Given the description of an element on the screen output the (x, y) to click on. 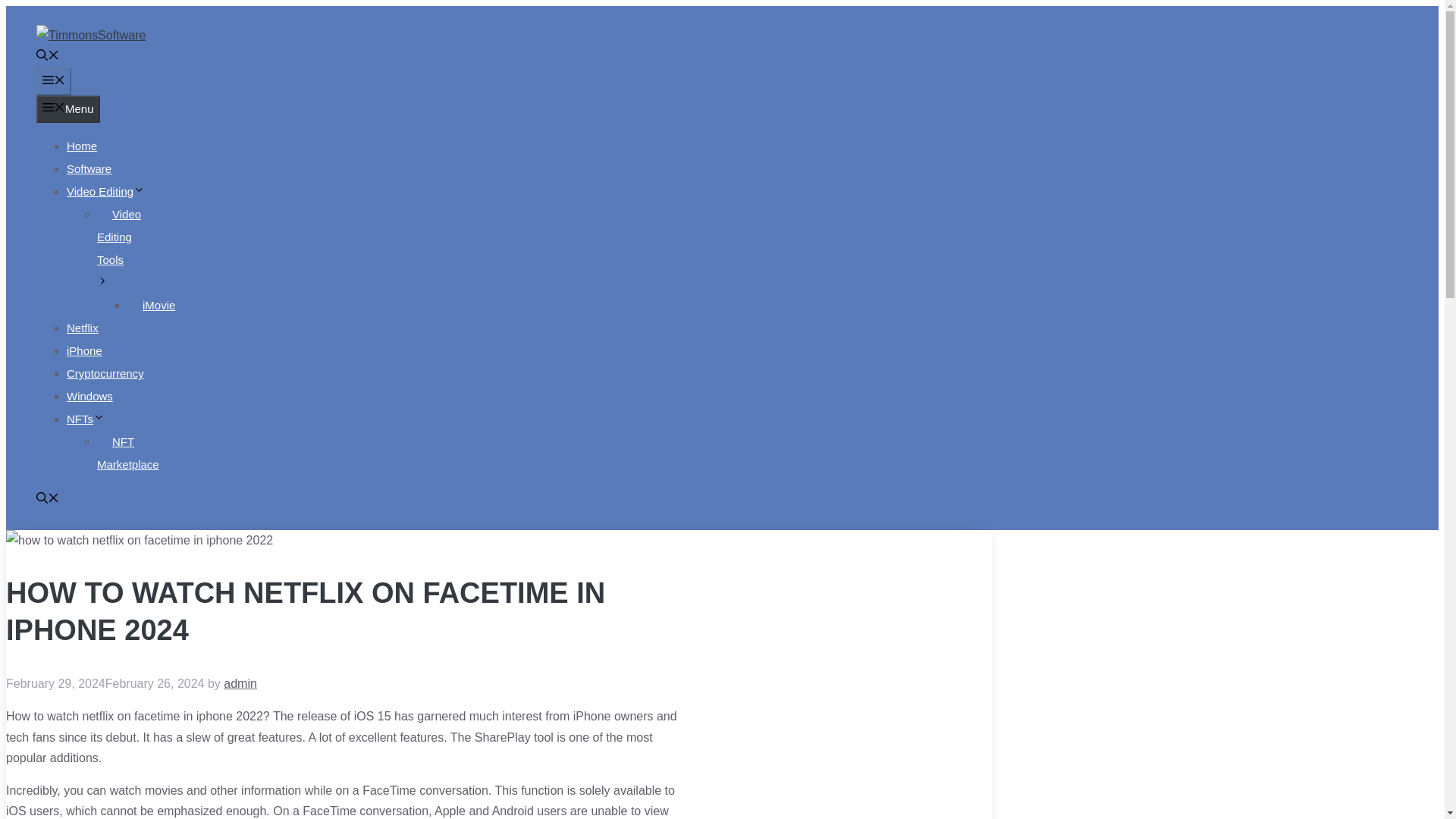
Home (81, 145)
Menu (68, 108)
NFTs (85, 418)
Cryptocurrency (105, 373)
admin (240, 683)
Windows (89, 395)
View all posts by admin (240, 683)
iMovie (159, 304)
iPhone (83, 350)
